Given the description of an element on the screen output the (x, y) to click on. 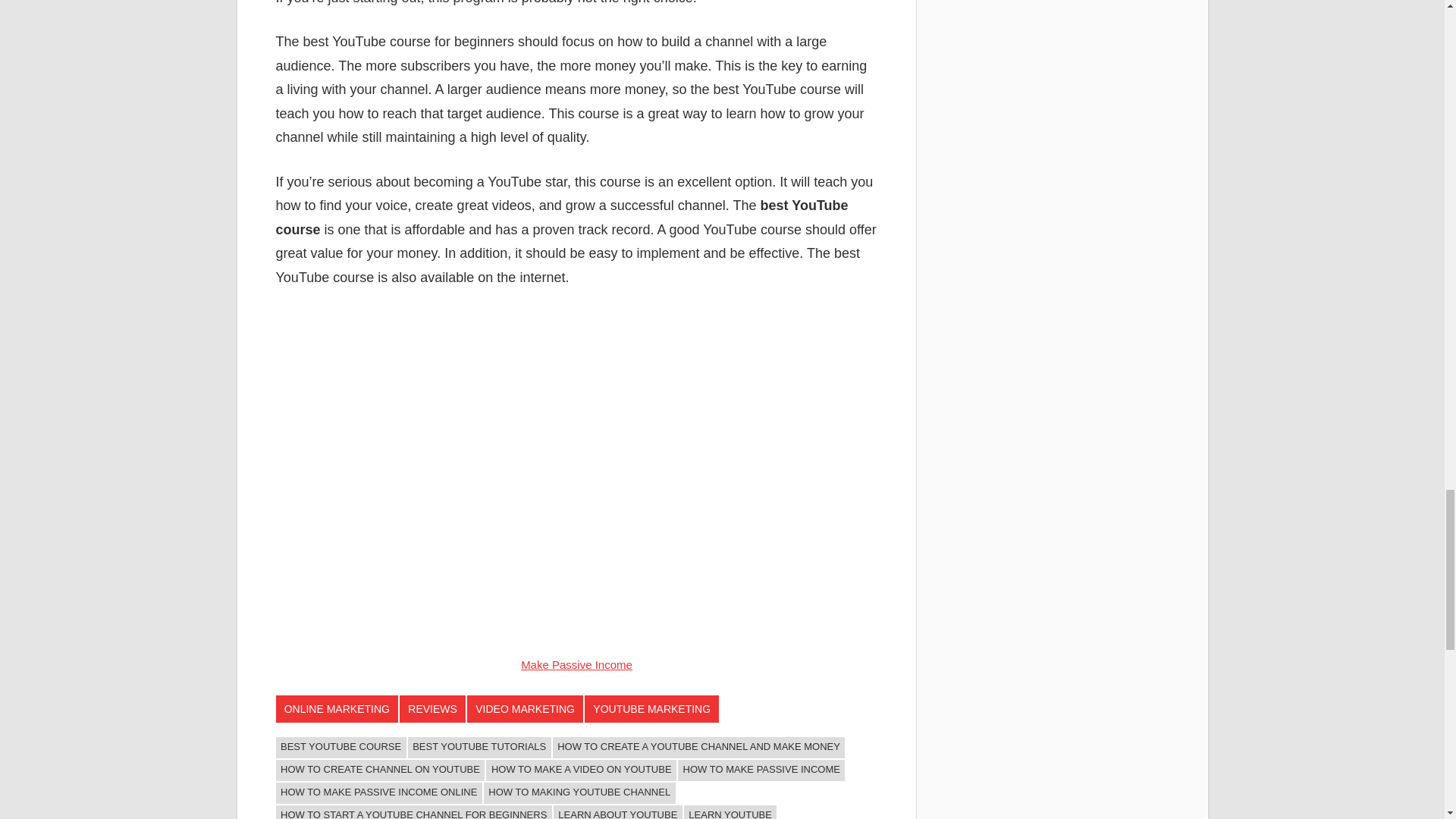
BEST YOUTUBE COURSE (341, 747)
VIDEO MARKETING (525, 708)
HOW TO MAKE PASSIVE INCOME (761, 770)
LEARN YOUTUBE (730, 812)
HOW TO CREATE CHANNEL ON YOUTUBE (380, 770)
LEARN ABOUT YOUTUBE (617, 812)
ONLINE MARKETING (337, 708)
BEST YOUTUBE TUTORIALS (479, 747)
YOUTUBE MARKETING (652, 708)
Make Passive Income (576, 664)
